Given the description of an element on the screen output the (x, y) to click on. 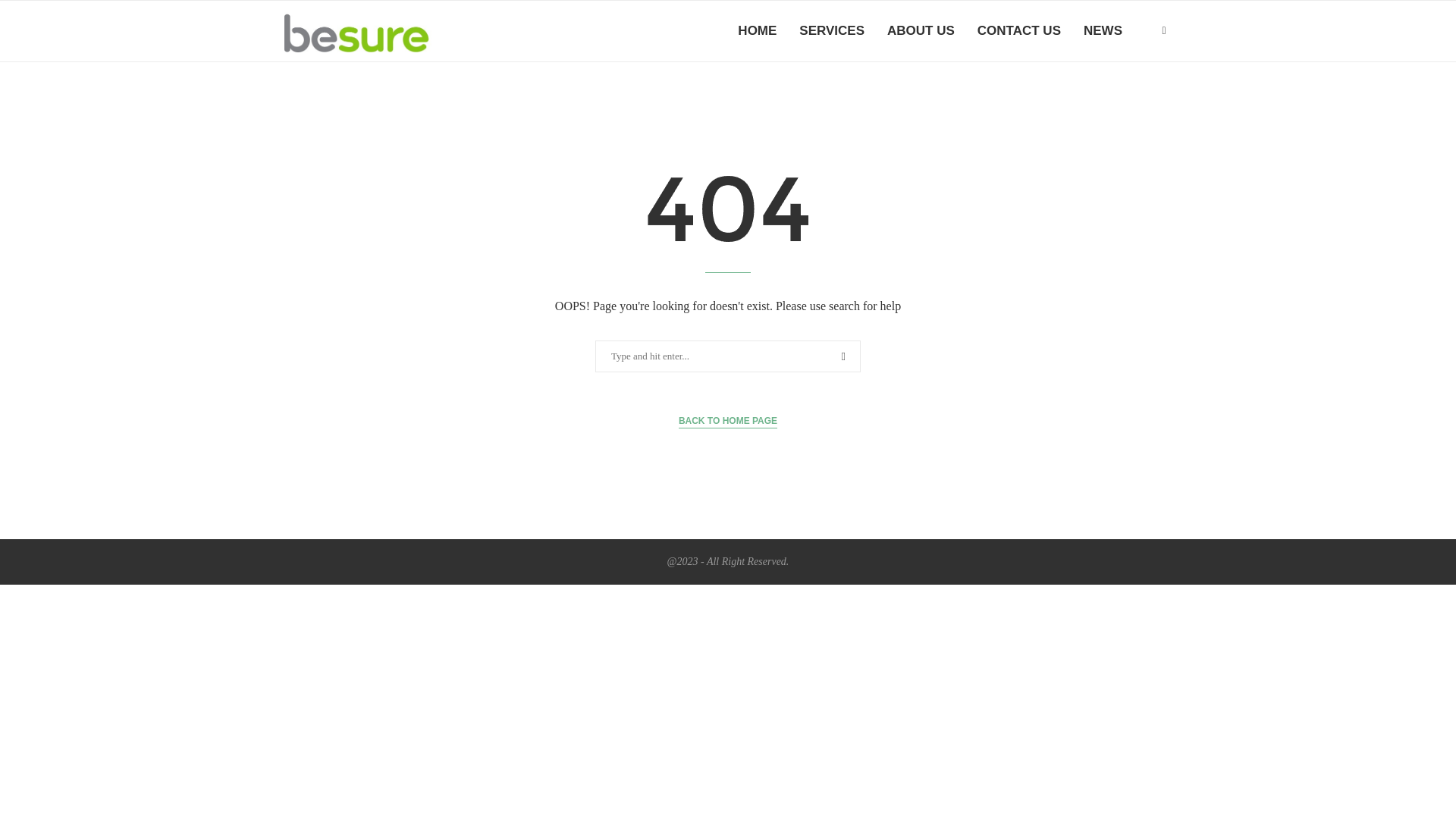
Search (35, 15)
ABOUT US (920, 30)
CONTACT US (1018, 30)
BACK TO HOME PAGE (727, 421)
SERVICES (831, 30)
